Given the description of an element on the screen output the (x, y) to click on. 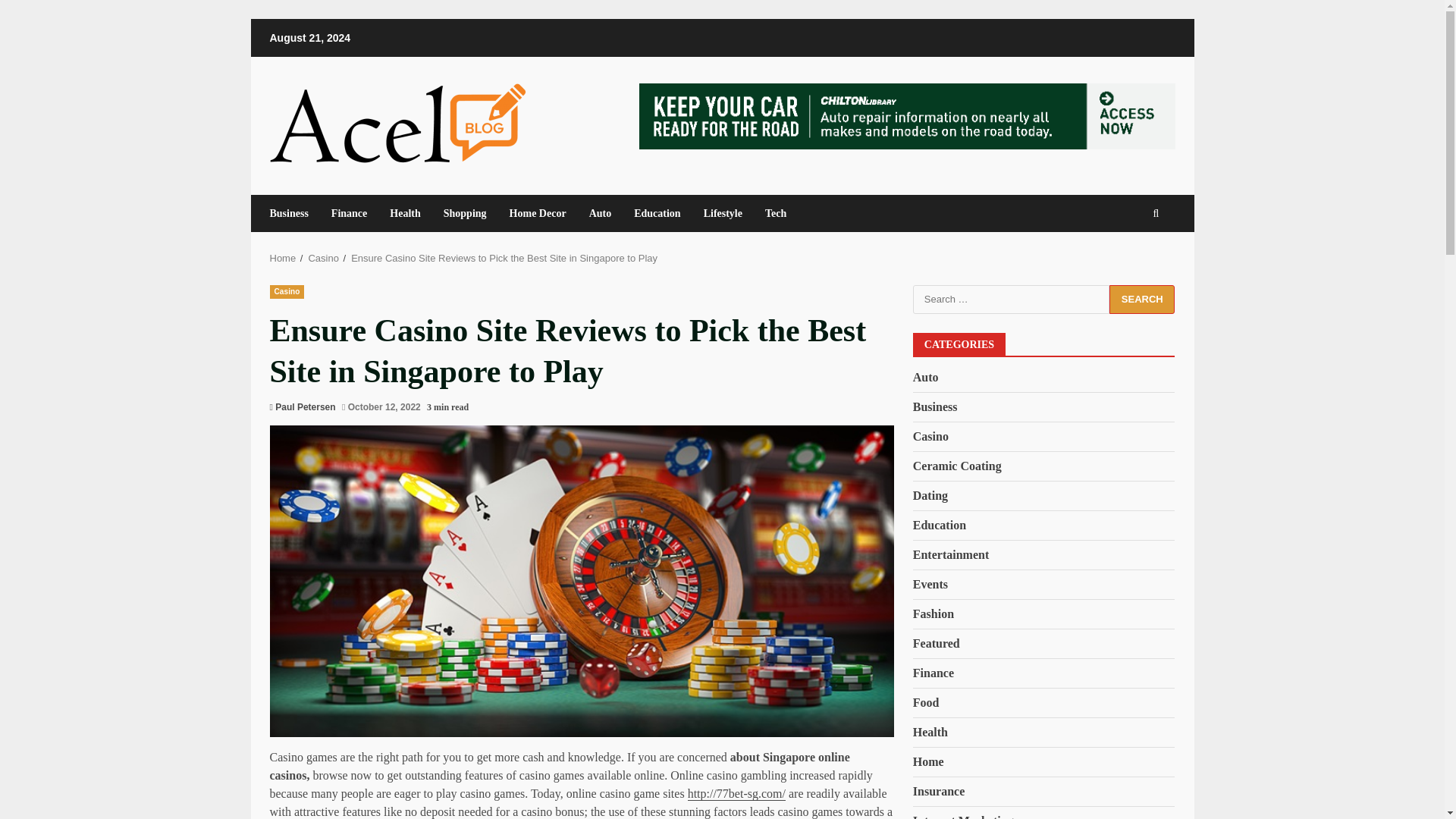
Finance (349, 212)
Shopping (464, 212)
Business (294, 212)
Health (404, 212)
Search (1141, 299)
Dating (929, 495)
Home (283, 257)
Education (939, 525)
